Given the description of an element on the screen output the (x, y) to click on. 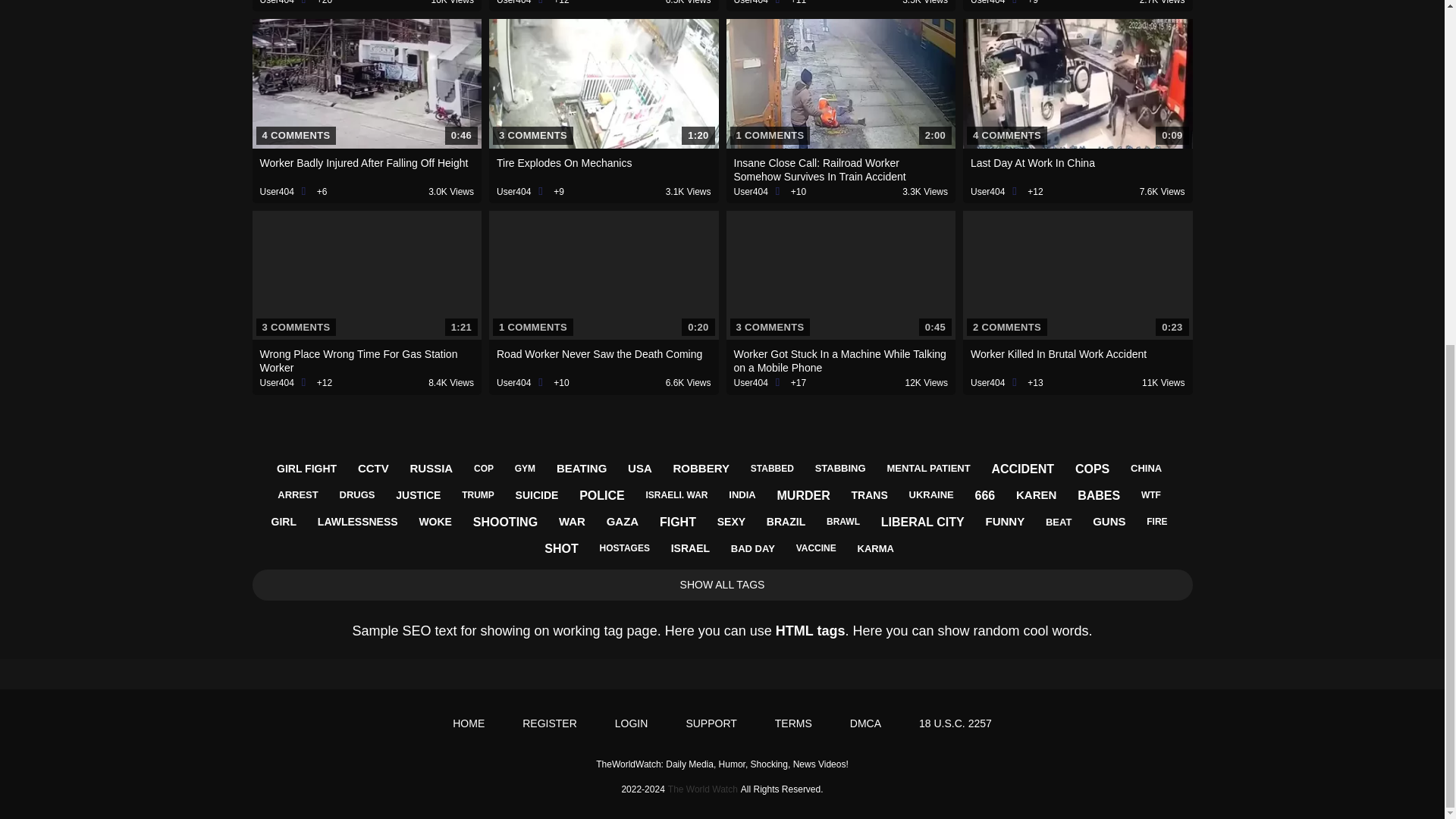
I like this video (316, 2)
